Given the description of an element on the screen output the (x, y) to click on. 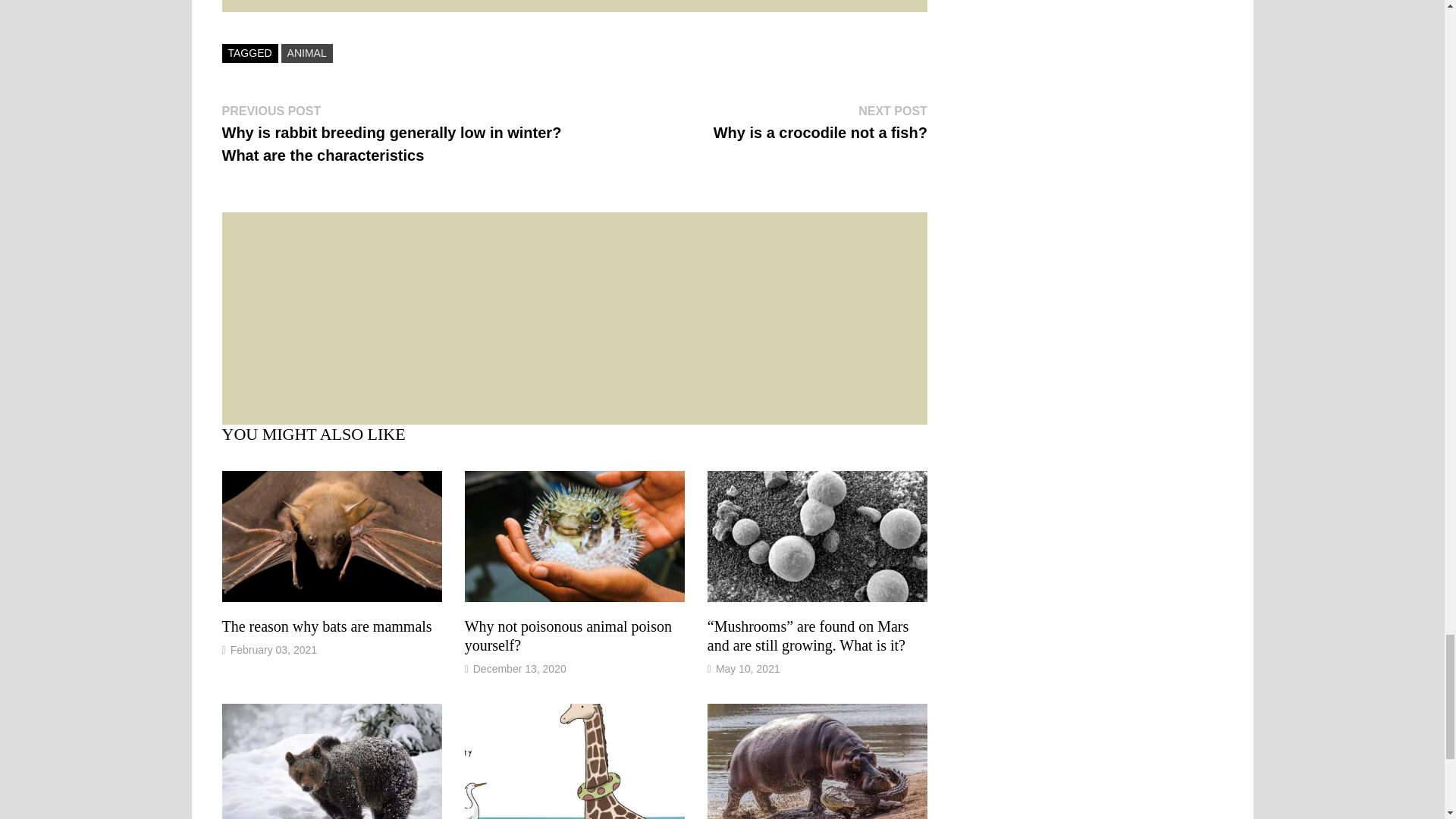
The reason why bats are mammals (325, 626)
May 10, 2021 (748, 668)
The reason why bats are mammals (325, 626)
February 03, 2021 (820, 121)
ANIMAL (273, 649)
Why not poisonous animal poison yourself? (307, 53)
Why not poisonous animal poison yourself? (567, 635)
December 13, 2020 (567, 635)
